Given the description of an element on the screen output the (x, y) to click on. 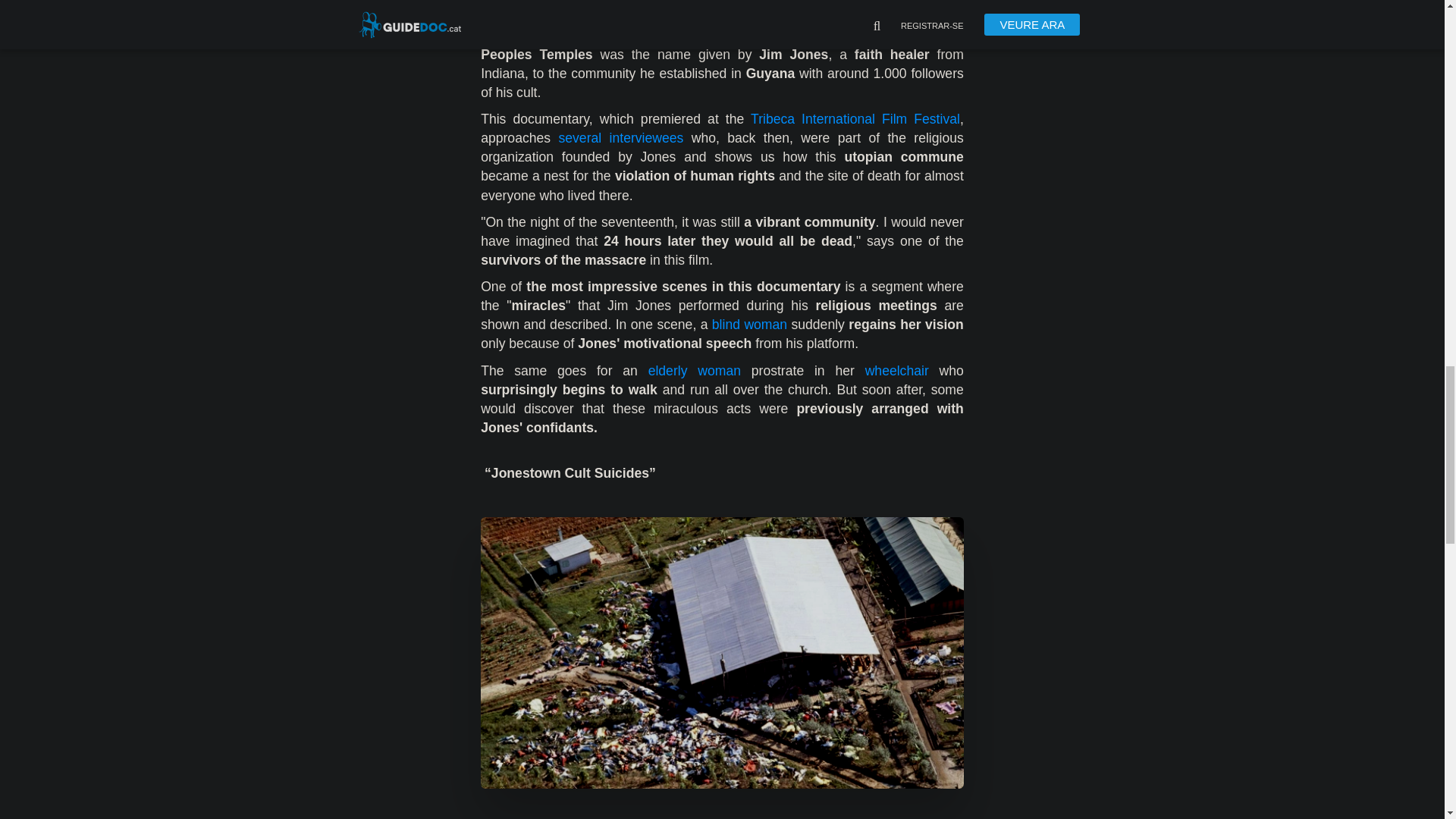
wheelchair (896, 369)
elderly woman (694, 369)
blind woman (749, 324)
Tribeca International Film Festival (855, 118)
several interviewees (619, 137)
